Given the description of an element on the screen output the (x, y) to click on. 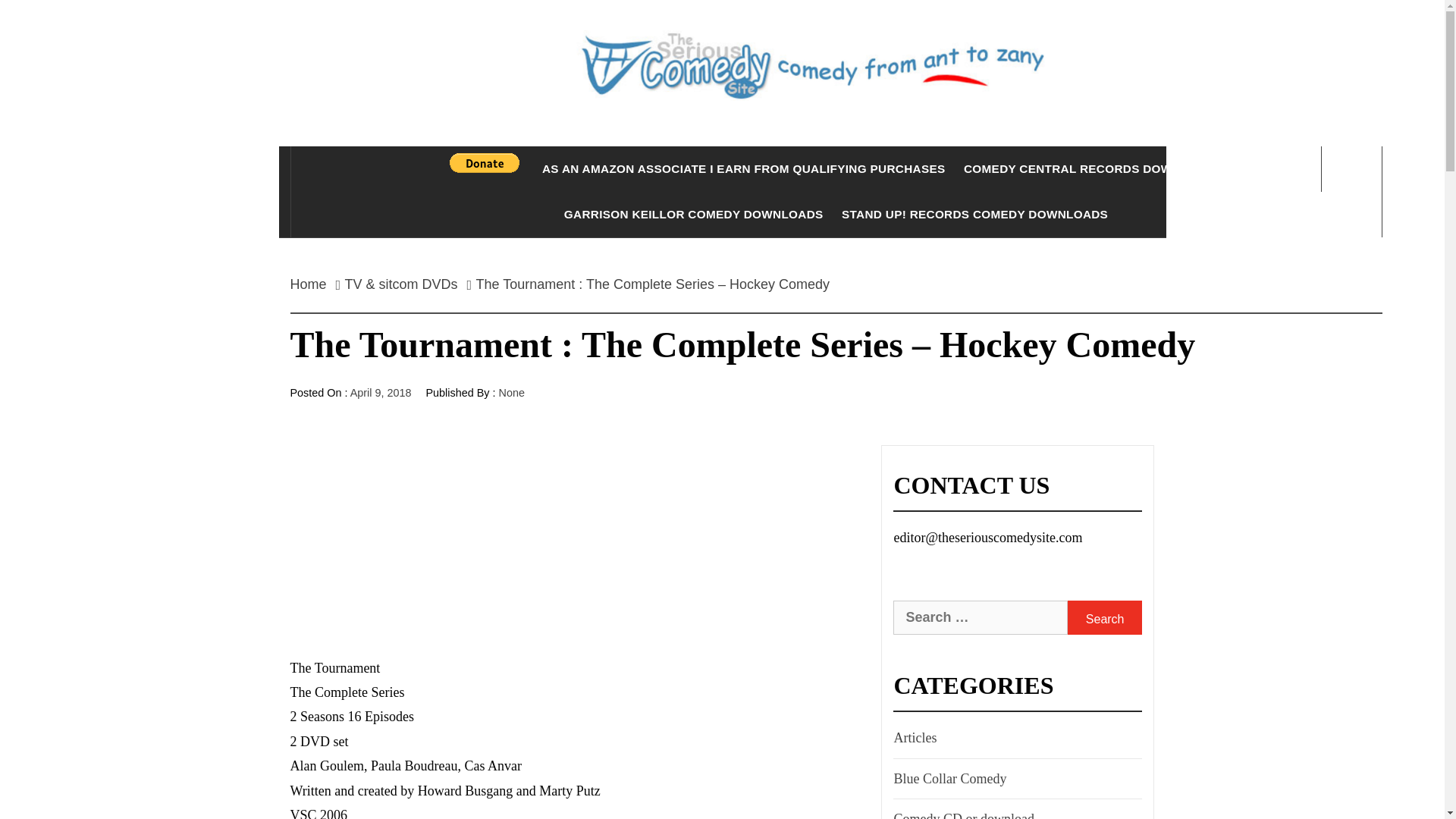
Comedy CD or download (961, 812)
Search (1104, 617)
Search (797, 37)
Search (1104, 617)
PayPal - The safer, easier way to pay online! (484, 162)
STAND UP! RECORDS COMEDY DOWNLOADS (974, 214)
GARRISON KEILLOR COMEDY DOWNLOADS (693, 214)
Home (311, 283)
Search (1104, 617)
AS AN AMAZON ASSOCIATE I EARN FROM QUALIFYING PURCHASES (743, 168)
